Given the description of an element on the screen output the (x, y) to click on. 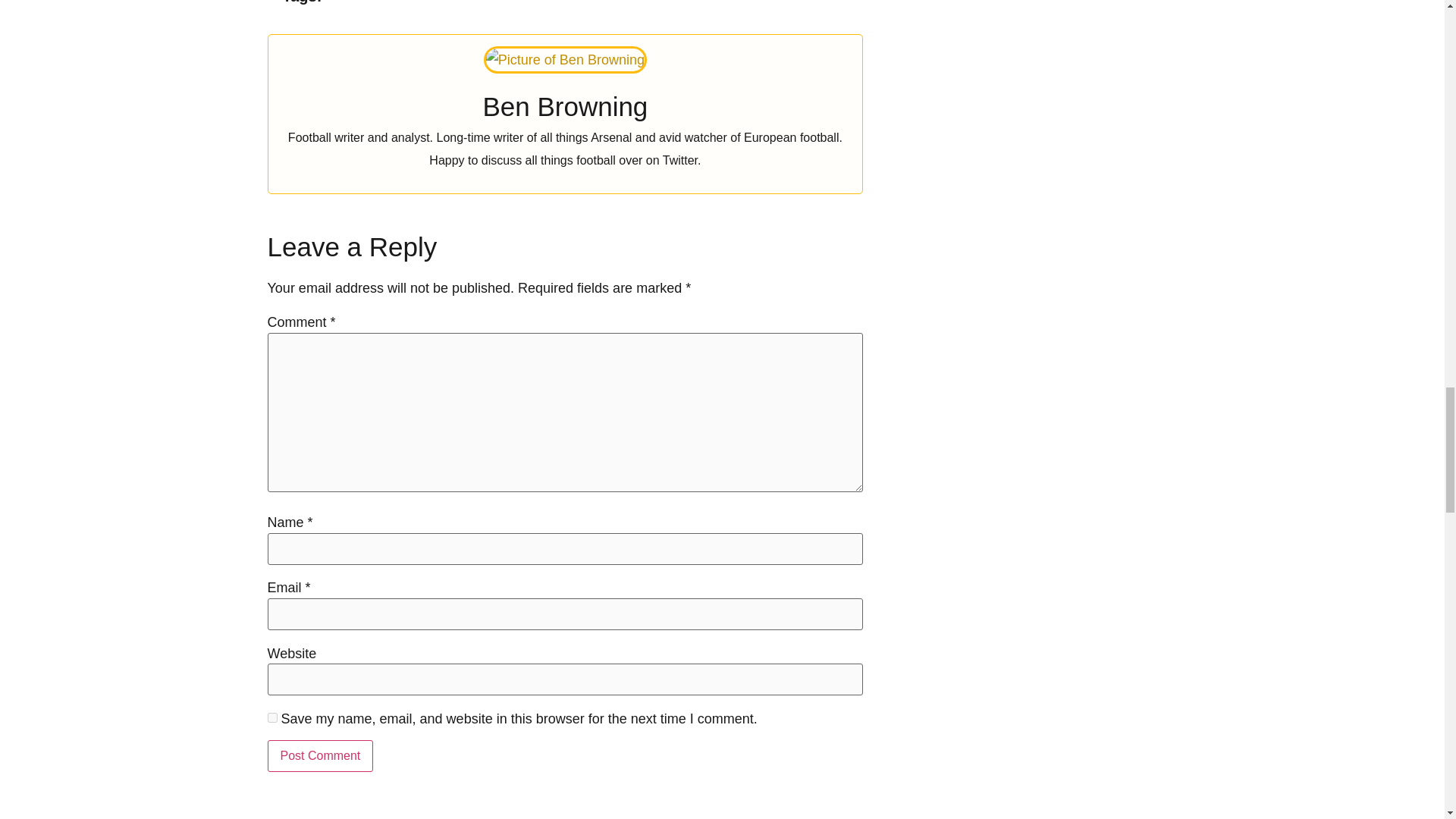
yes (271, 717)
Post Comment (319, 756)
